Given the description of an element on the screen output the (x, y) to click on. 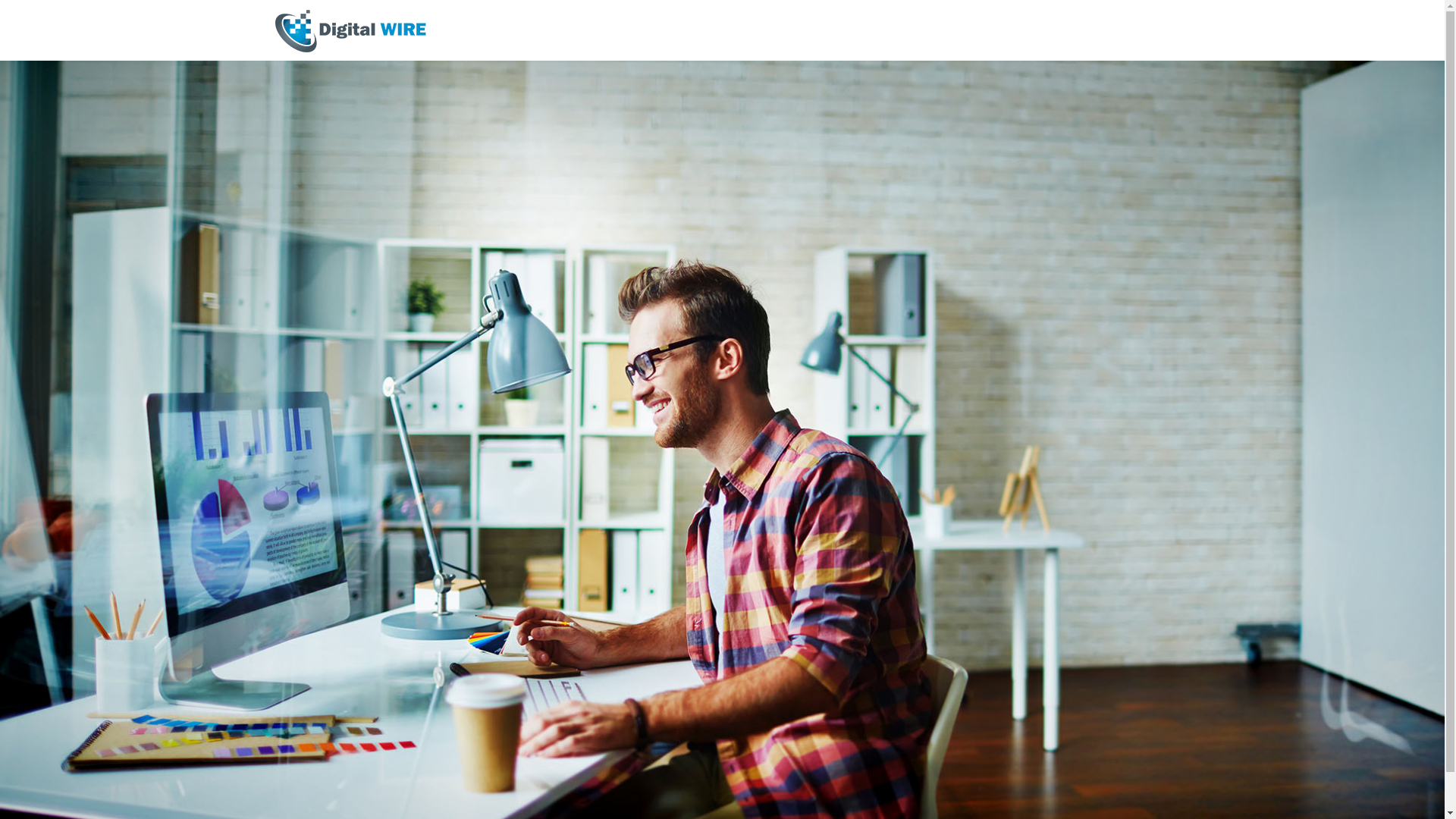
digital WIRE Element type: hover (349, 30)
